Given the description of an element on the screen output the (x, y) to click on. 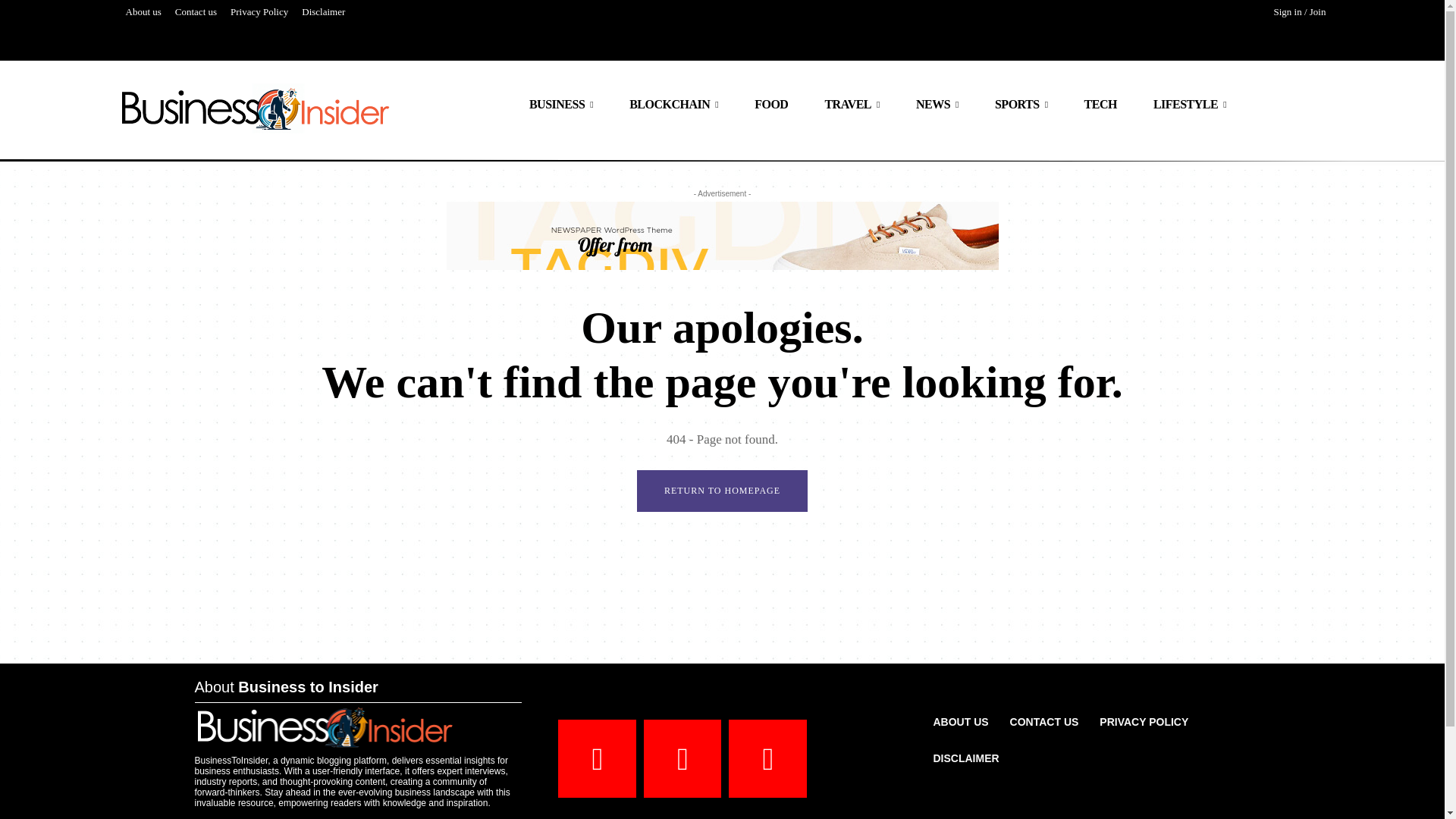
TRAVEL (852, 104)
About us (142, 12)
Facebook (596, 758)
Instagram (682, 758)
Twitter (767, 758)
FOOD (771, 104)
BLOCKCHAIN (673, 104)
Privacy Policy (259, 12)
BUSINESS (561, 104)
Disclaimer (323, 12)
